Given the description of an element on the screen output the (x, y) to click on. 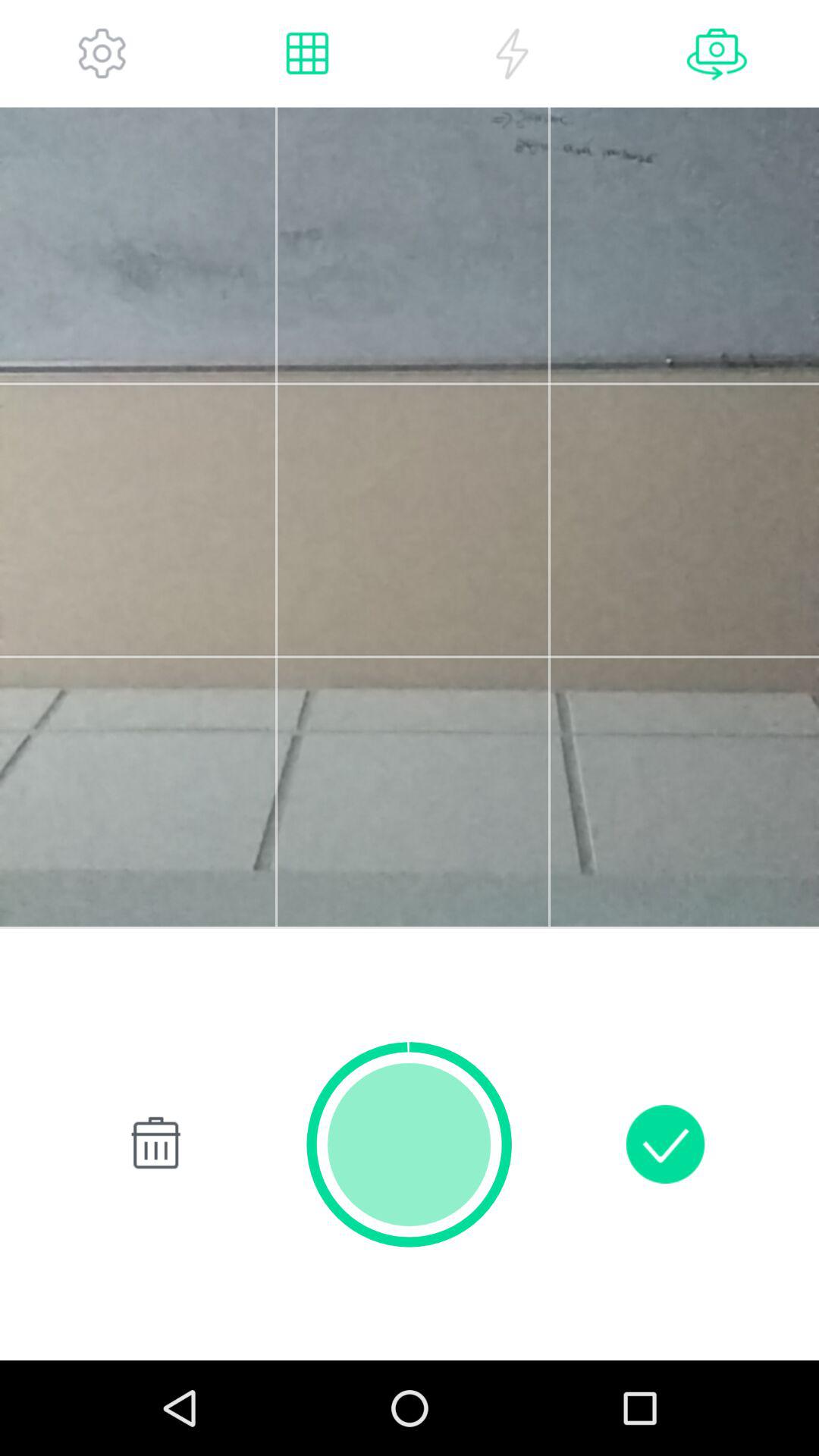
click the item at the bottom (408, 1144)
